Given the description of an element on the screen output the (x, y) to click on. 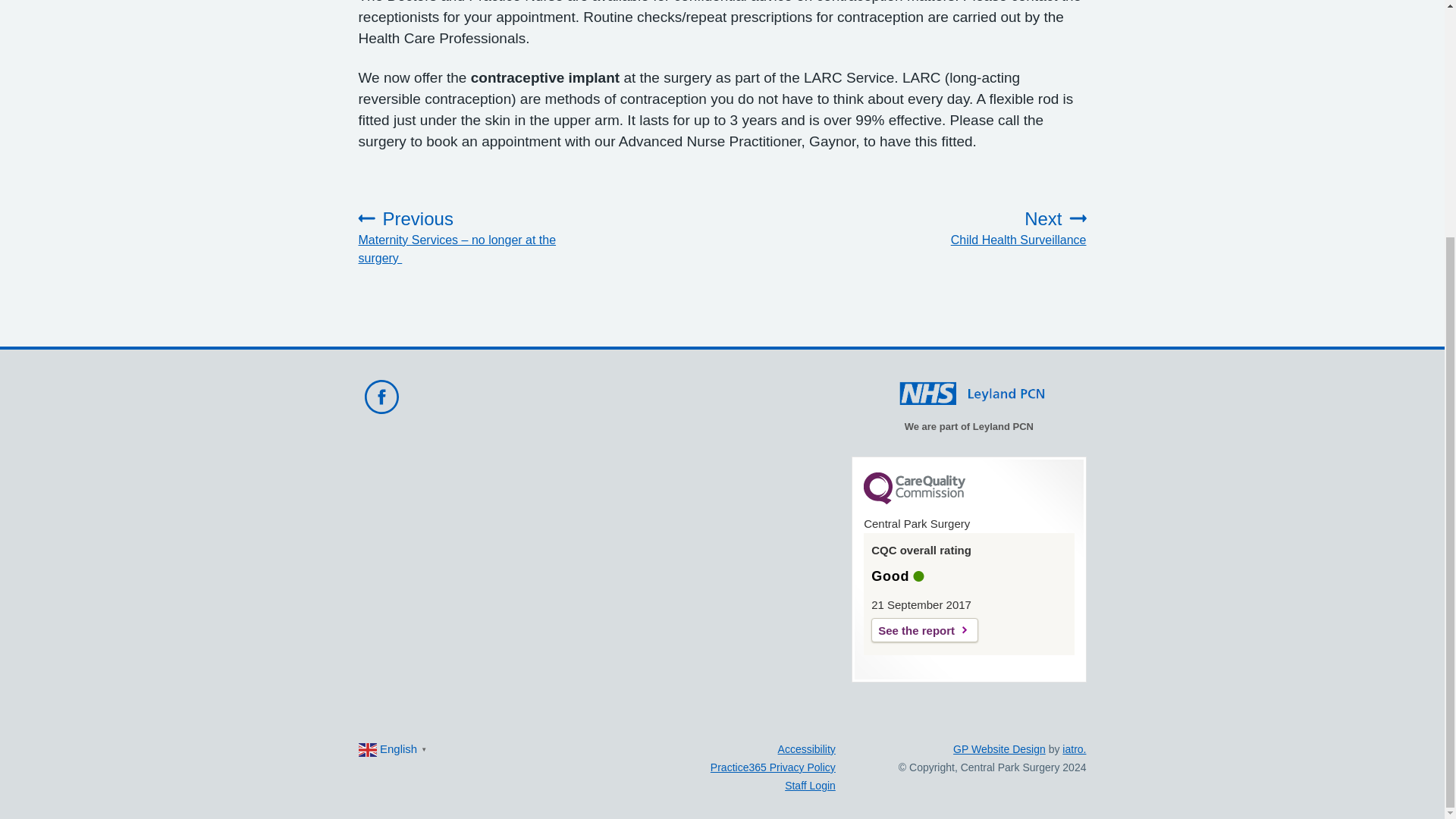
Staff Login (809, 785)
Practice365 Privacy Policy (976, 228)
Accessibility (772, 767)
See the report (806, 748)
CQC Logo (924, 630)
iatro. (914, 500)
GP Website Design (1074, 748)
